Given the description of an element on the screen output the (x, y) to click on. 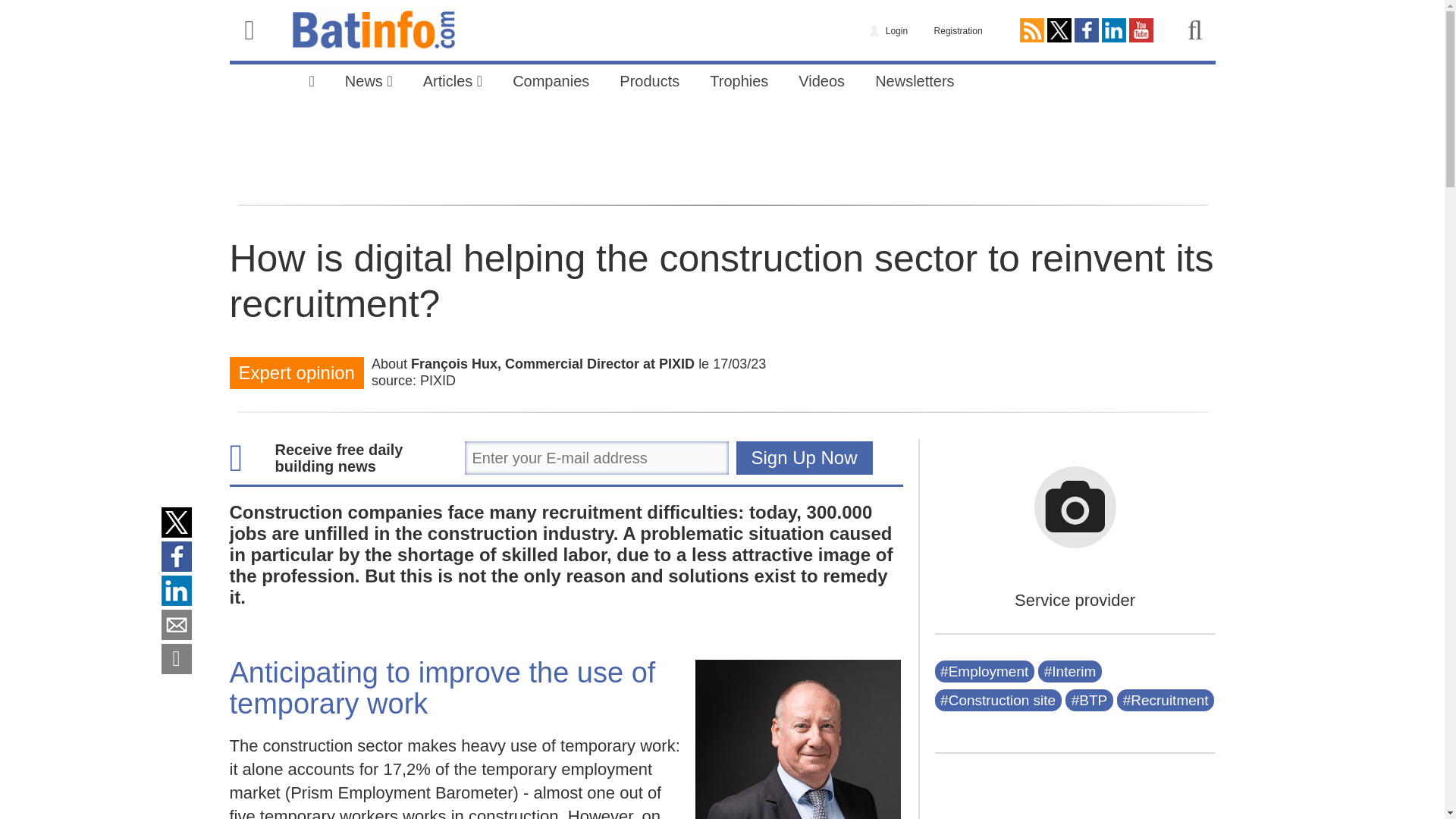
News (368, 79)
Newsletters (914, 79)
Products (649, 79)
Batinfo.com (373, 30)
Registration (958, 28)
Companies (550, 79)
Articles (452, 79)
Sign Up Now (803, 458)
Trophies (738, 79)
 Login (888, 28)
Registration (958, 28)
Login (888, 28)
Videos (821, 79)
